Given the description of an element on the screen output the (x, y) to click on. 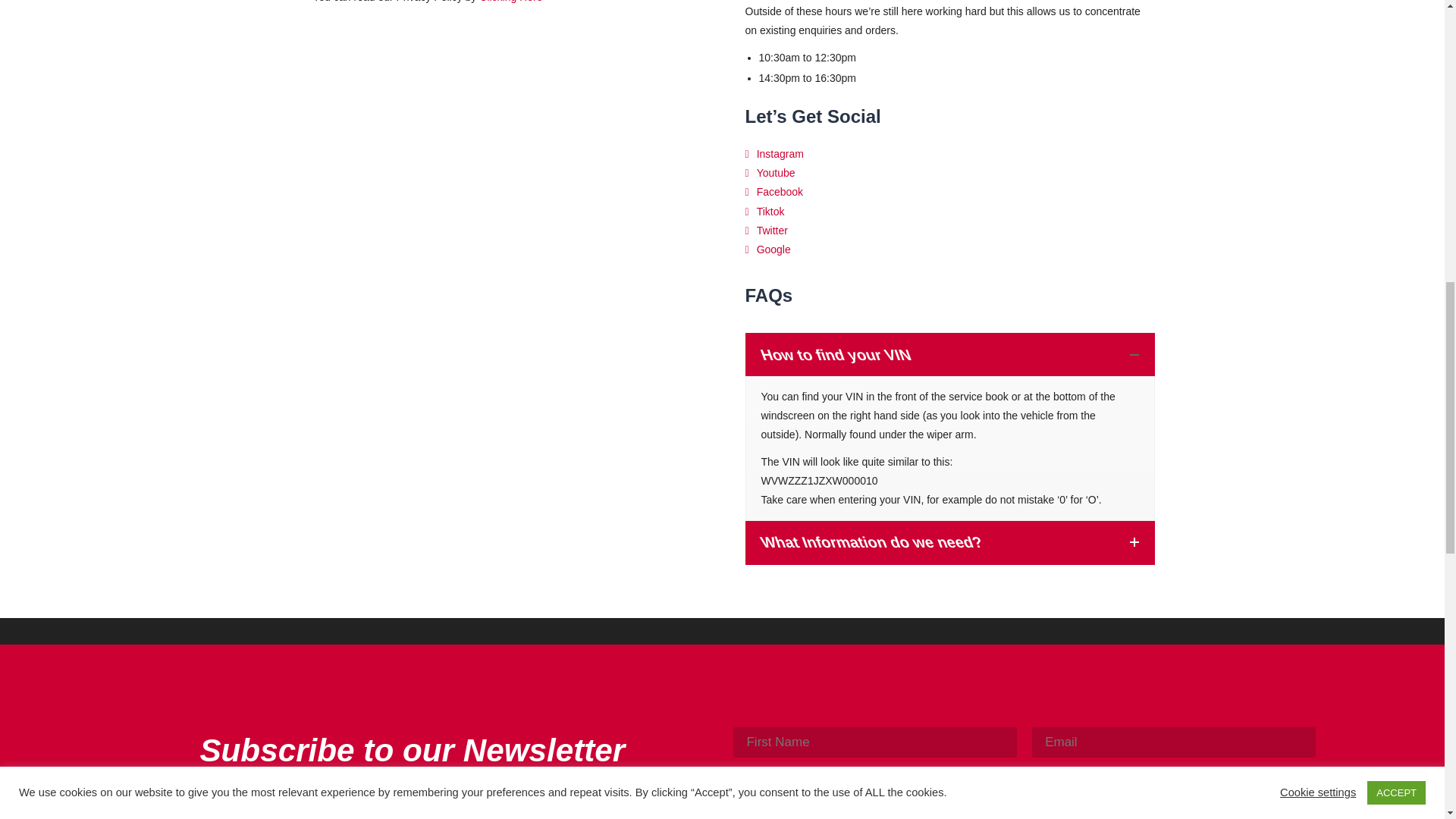
Facebook (773, 192)
Tiktok (764, 211)
Tiktok (764, 211)
Youtube (769, 173)
Twitter (765, 230)
Subscribe (874, 784)
Instagram (773, 154)
Twitter (765, 230)
Instagram (773, 154)
Clicking Here (510, 2)
Google-plus (767, 249)
Facebook (773, 192)
Youtube (769, 173)
